Given the description of an element on the screen output the (x, y) to click on. 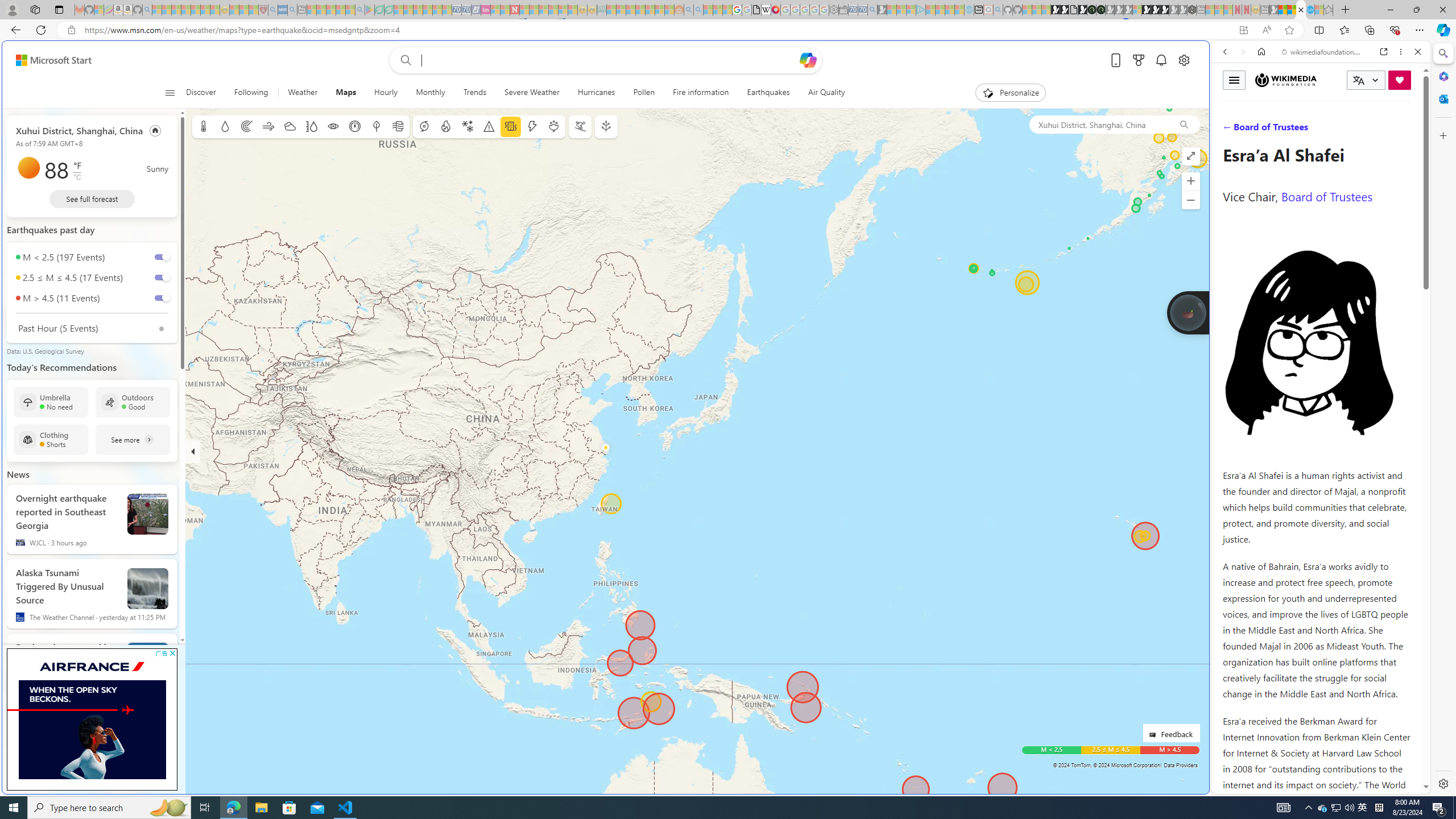
Fire information (700, 92)
list of asthma inhalers uk - Search - Sleeping (272, 9)
This site scope (1259, 102)
Enter your search term (608, 59)
WEB   (1230, 130)
Utah sues federal government - Search - Sleeping (697, 9)
Global web icon (1232, 786)
Search Filter, WEB (1230, 129)
MSN - Sleeping (1272, 9)
Play Zoo Boom in your browser | Games from Microsoft Start (1064, 9)
Overnight earthquake reported in Southeast Georgia (148, 513)
